Given the description of an element on the screen output the (x, y) to click on. 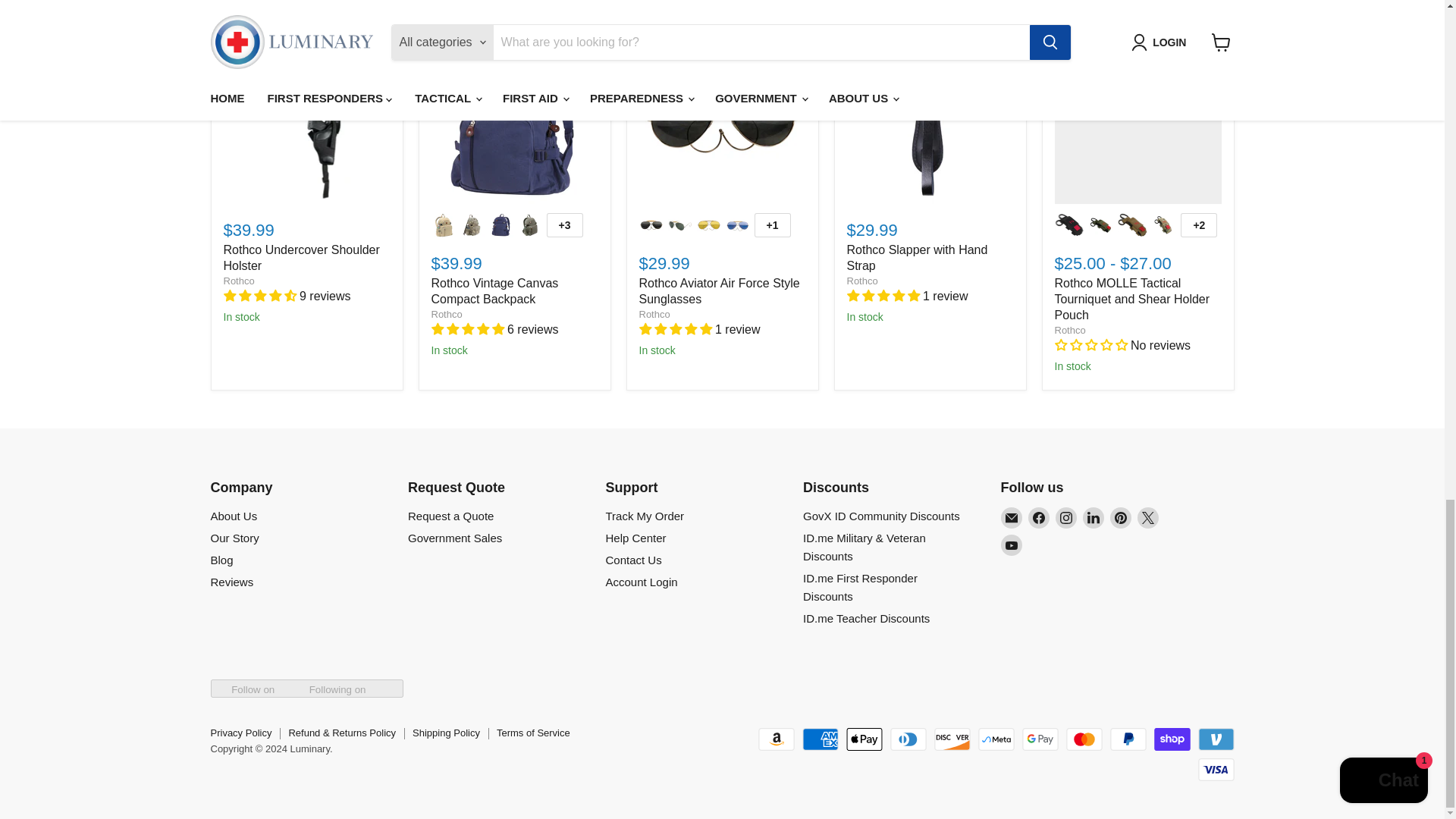
Rothco (861, 280)
Pinterest (1120, 517)
Rothco (654, 314)
Rothco (237, 280)
Instagram (1066, 517)
X (1147, 517)
Rothco (1069, 329)
LinkedIn (1093, 517)
YouTube (1011, 545)
Rothco (445, 314)
Email (1011, 517)
Facebook (1038, 517)
